Given the description of an element on the screen output the (x, y) to click on. 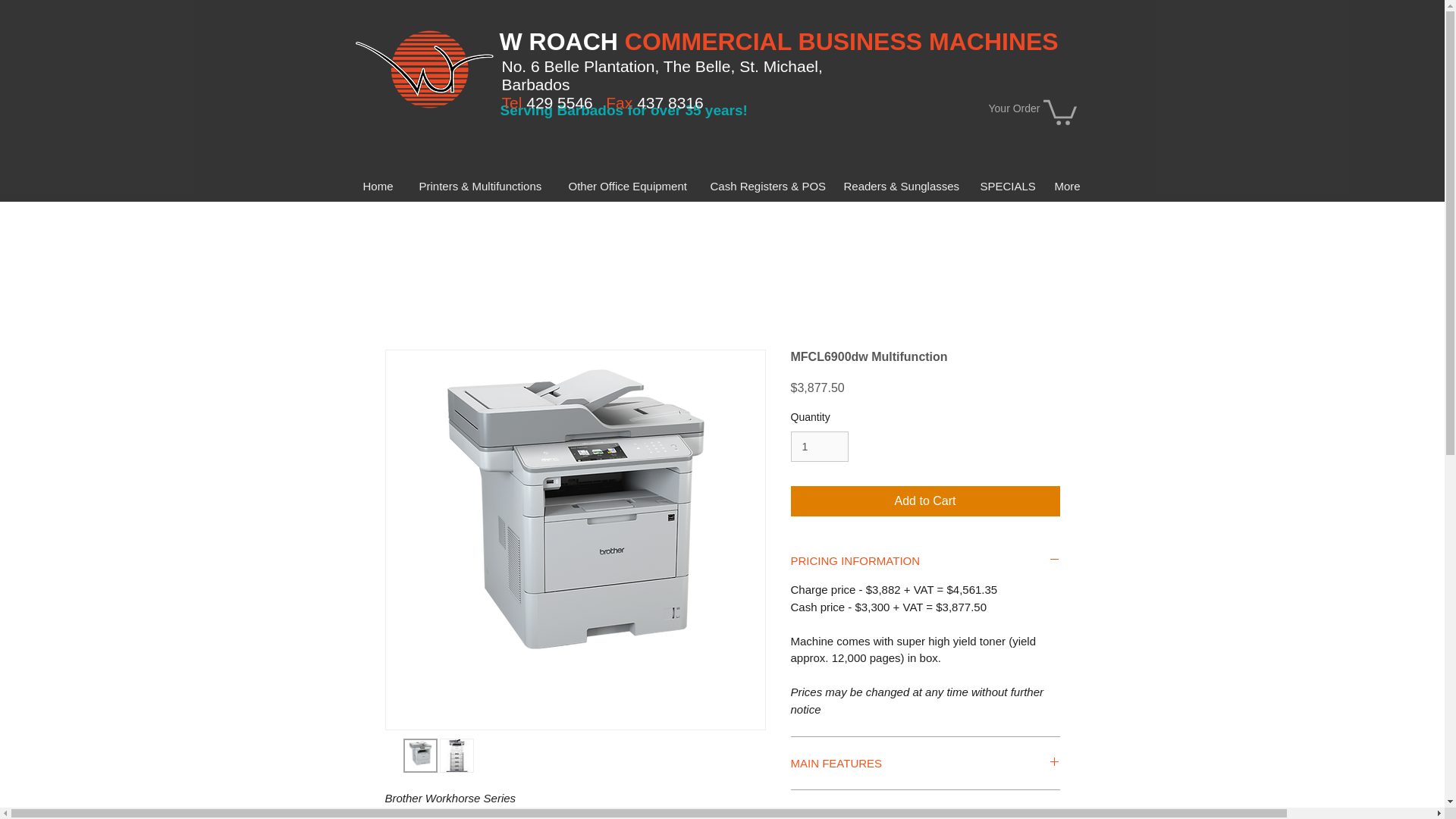
1 (818, 446)
Other Office Equipment (627, 185)
No. 6 Belle Plantation, The Belle, St. Michael, Barbados (662, 75)
SPECIALS (1006, 185)
W ROACH COMMERCIAL BUSINESS MACHINES (778, 41)
Home (379, 185)
